Given the description of an element on the screen output the (x, y) to click on. 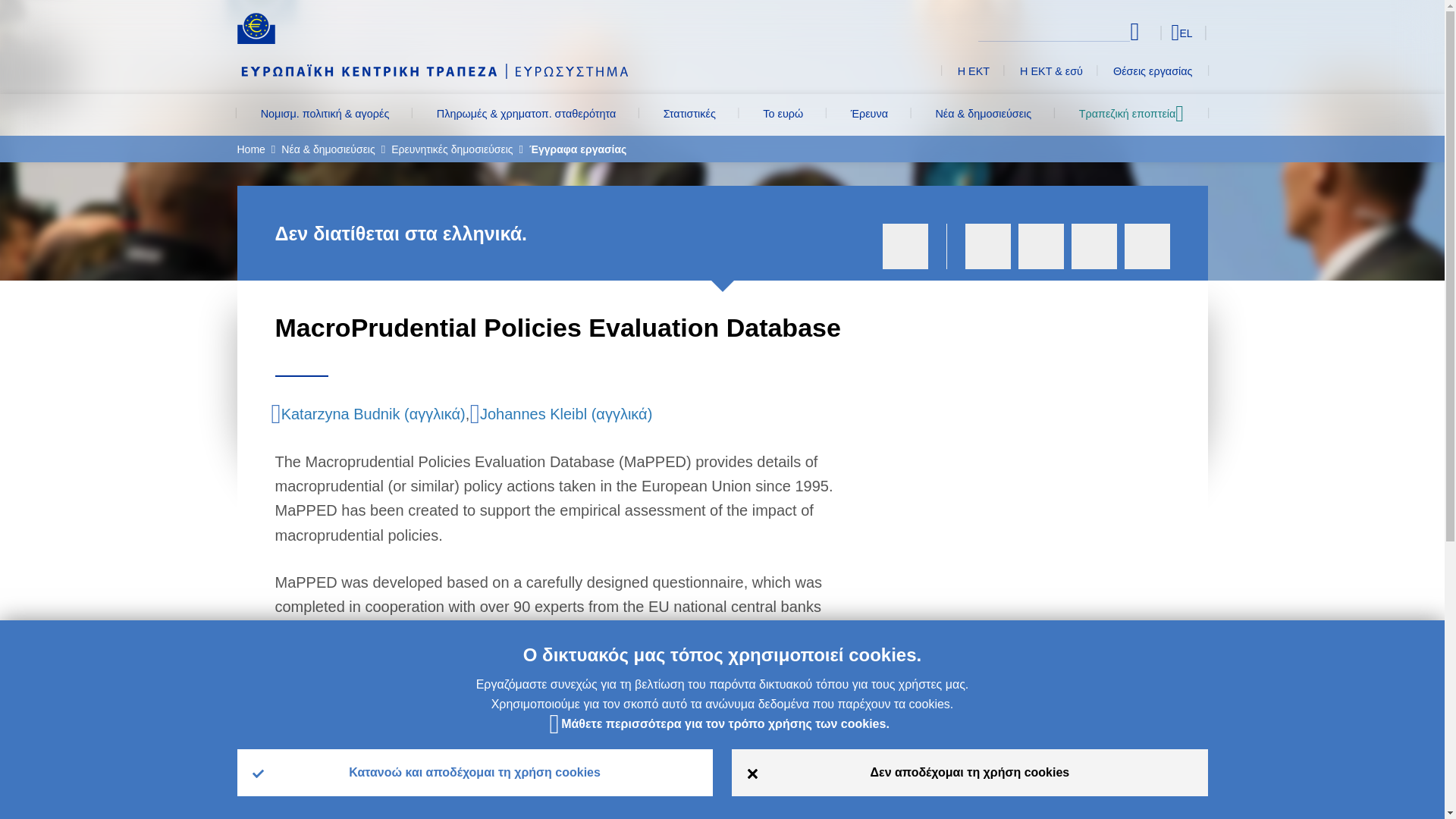
Select language (1153, 32)
